Given the description of an element on the screen output the (x, y) to click on. 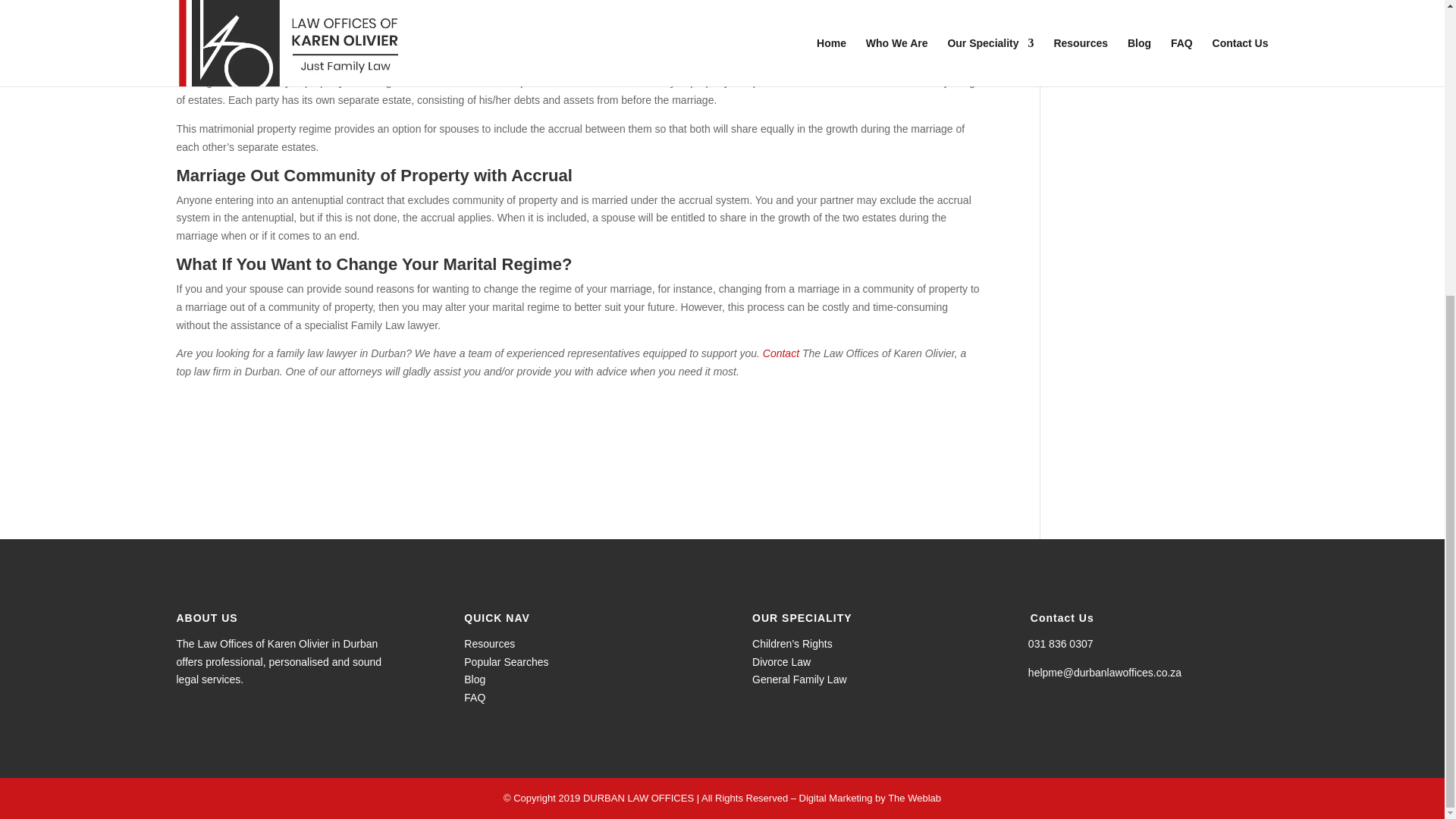
Digital Marketing Company (835, 797)
General Family Law (799, 679)
Contact (780, 353)
Web Design Company (914, 797)
031 836 0307 (1060, 644)
The Weblab (914, 797)
antenuptial contract (533, 81)
Divorce Law (781, 662)
Popular Searches (506, 662)
Resources (489, 644)
